Given the description of an element on the screen output the (x, y) to click on. 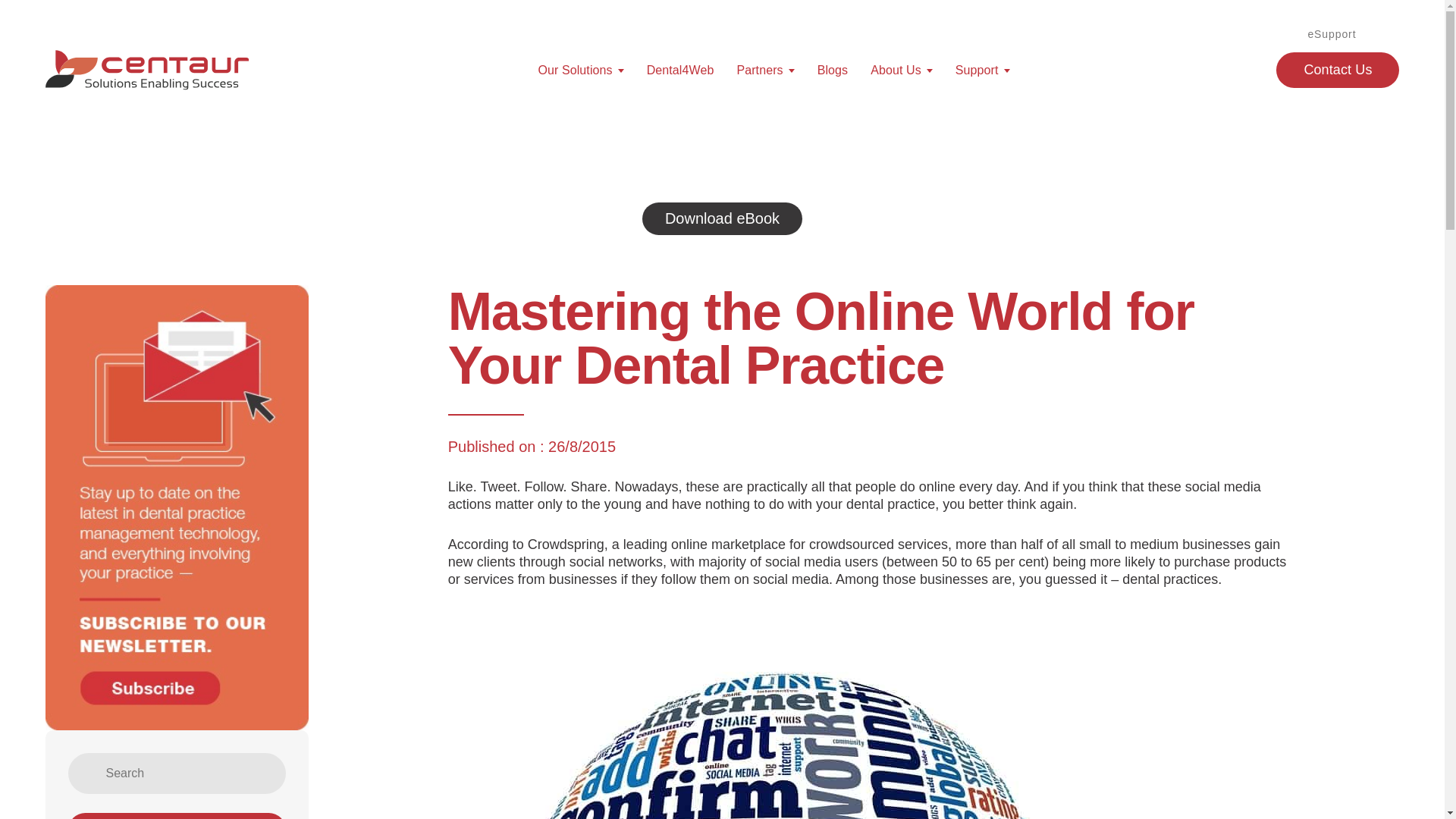
Dental4Web (612, 123)
National Dental Plan (612, 271)
National Dental Plan (812, 152)
D4W Mobile (612, 182)
Practice Analytics (612, 523)
D4W Marketing (612, 301)
Dental4Windows Initial Training (764, 456)
Healthengine (812, 241)
Dental Digital imaging (612, 360)
Mediasuite Digital Imaging Software (764, 367)
